Given the description of an element on the screen output the (x, y) to click on. 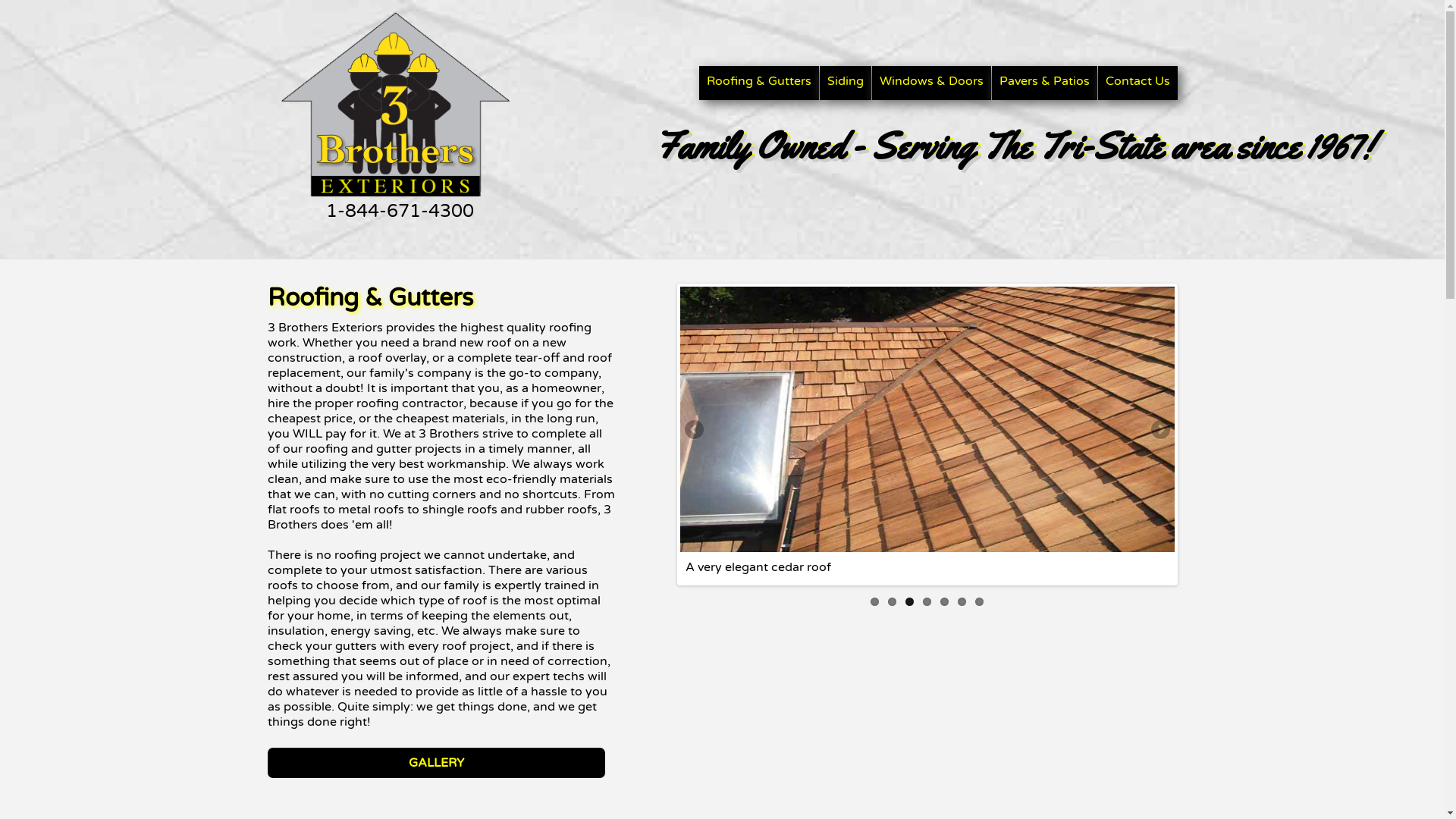
Windows & Doors Element type: text (931, 82)
2 Element type: text (892, 601)
6 Element type: text (961, 601)
Pavers & Patios Element type: text (1044, 82)
Contact Us Element type: text (1137, 82)
Siding Element type: text (844, 82)
1 Element type: text (874, 601)
4 Element type: text (926, 601)
GALLERY Element type: text (435, 762)
5 Element type: text (944, 601)
Next Element type: text (1159, 430)
Previous Element type: text (695, 430)
3 Element type: text (909, 601)
Roofing & Gutters Element type: text (759, 82)
7 Element type: text (979, 601)
